Given the description of an element on the screen output the (x, y) to click on. 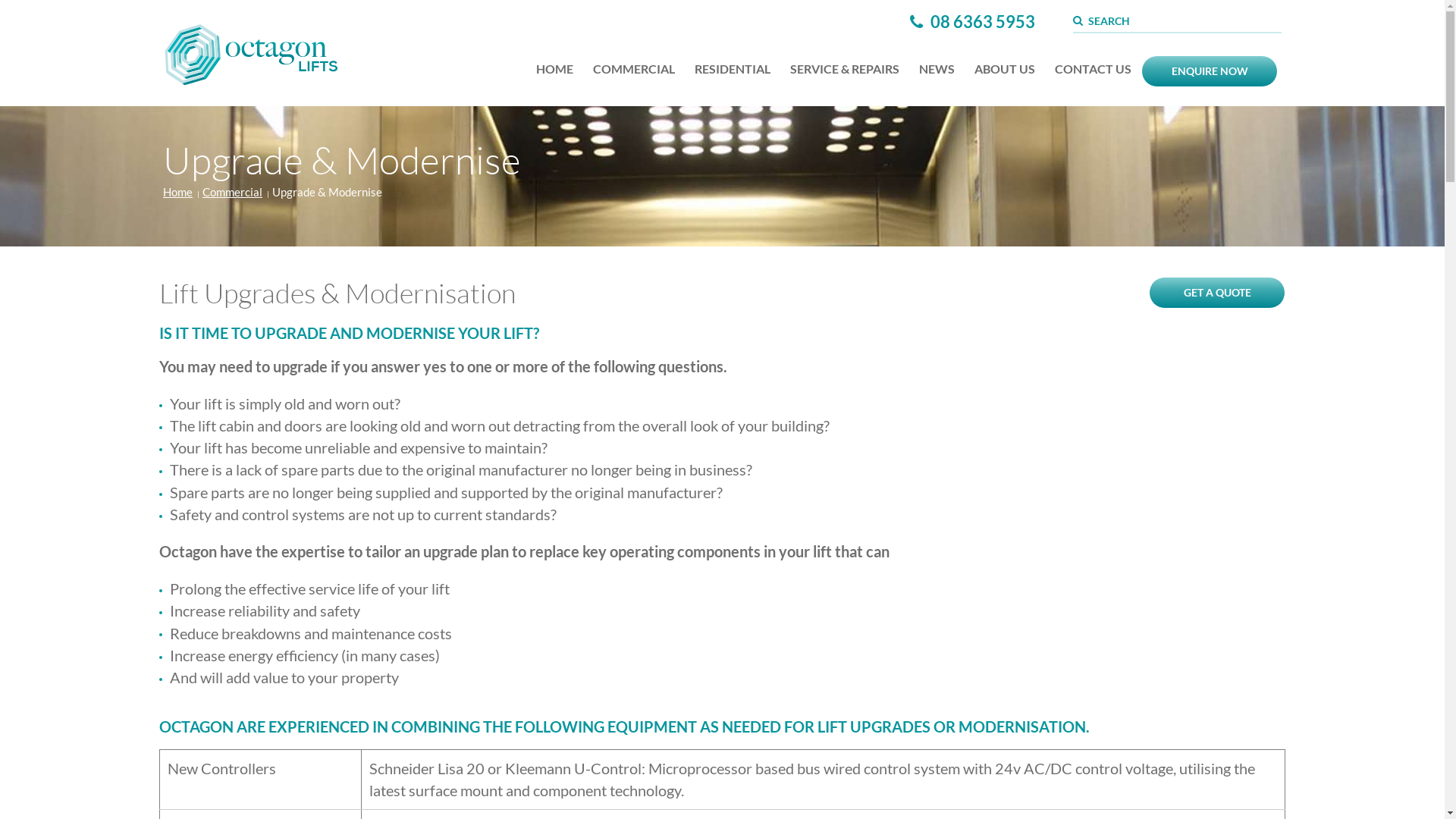
CONTACT US Element type: text (1092, 68)
RESIDENTIAL Element type: text (732, 68)
SERVICE & REPAIRS Element type: text (844, 68)
NEWS Element type: text (936, 68)
GET A QUOTE Element type: text (1216, 292)
Commercial Element type: text (232, 192)
HOME Element type: text (554, 68)
COMMERCIAL Element type: text (633, 68)
Home Element type: text (177, 192)
08 6363 5953 Element type: text (972, 21)
ABOUT US Element type: text (1004, 68)
